Given the description of an element on the screen output the (x, y) to click on. 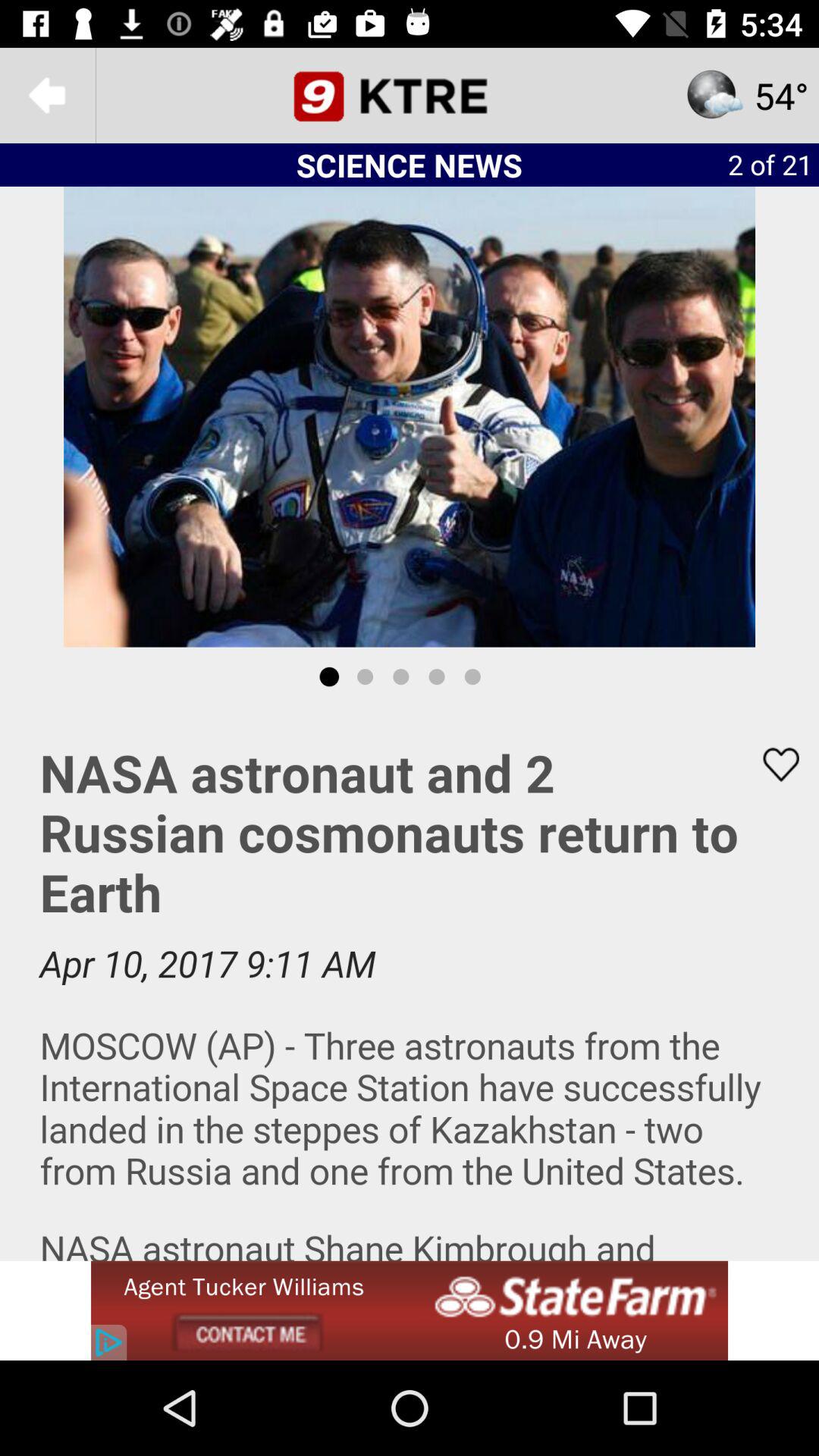
news (409, 983)
